Given the description of an element on the screen output the (x, y) to click on. 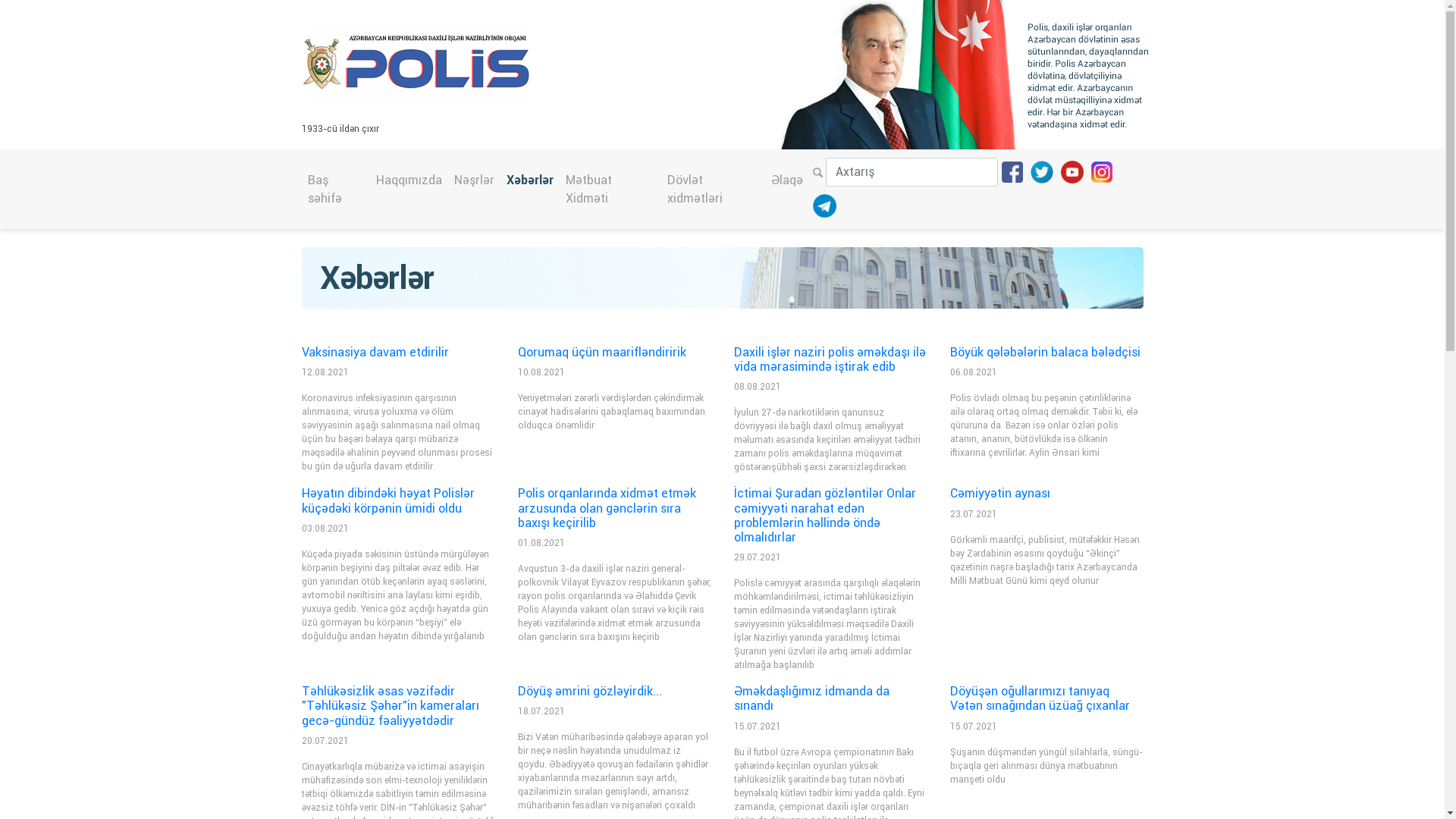
Vaksinasiya davam etdirilir Element type: text (374, 352)
